Given the description of an element on the screen output the (x, y) to click on. 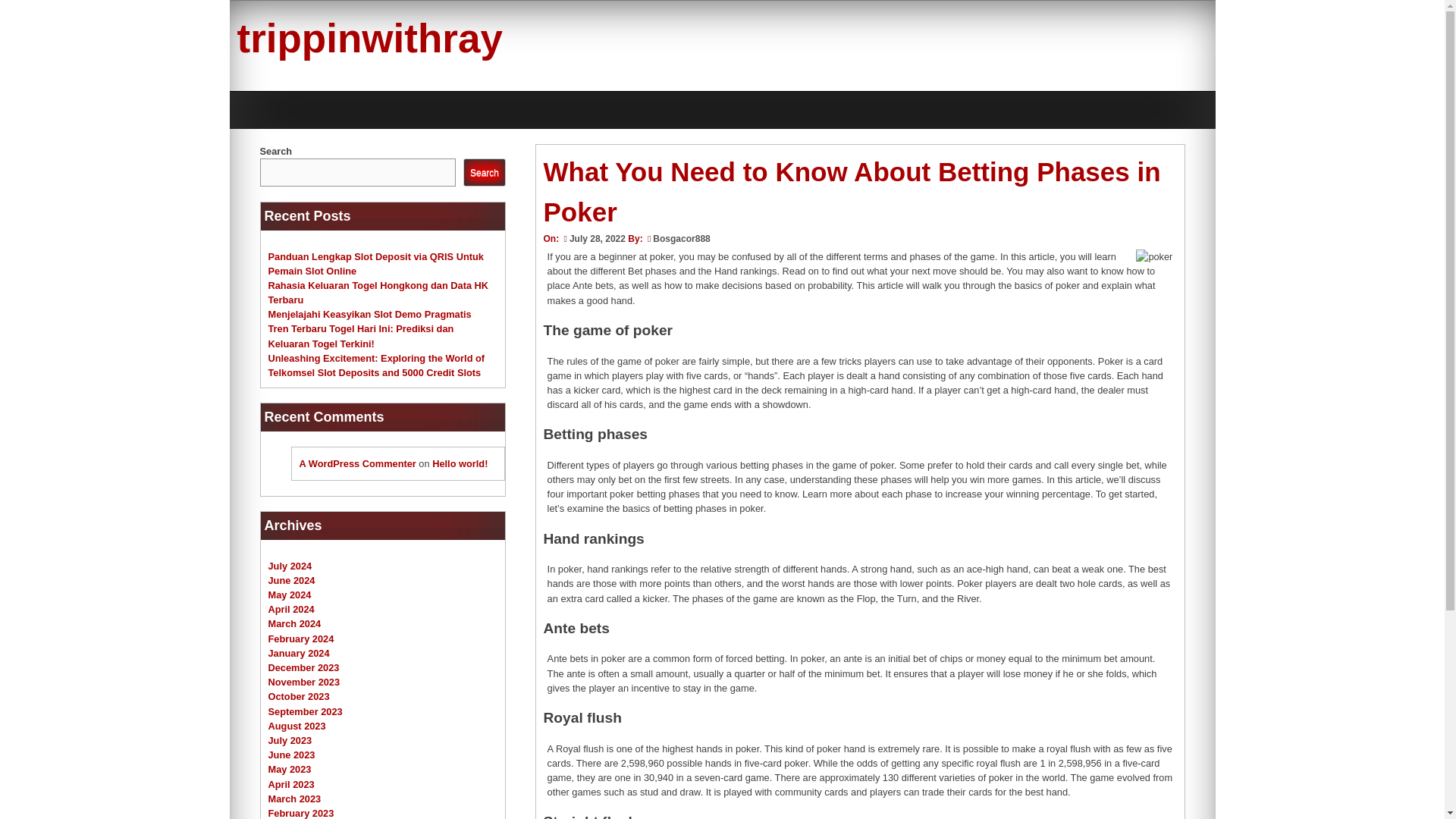
October 2023 (298, 696)
June 2023 (291, 754)
trippinwithray (368, 37)
May 2024 (289, 594)
Hello world! (459, 463)
July 28, 2022 (592, 238)
July 2023 (290, 740)
Search (484, 172)
Rahasia Keluaran Togel Hongkong dan Data HK Terbaru (378, 292)
January 2024 (298, 653)
December 2023 (303, 667)
August 2023 (296, 726)
September 2023 (304, 711)
Menjelajahi Keasyikan Slot Demo Pragmatis (369, 314)
November 2023 (303, 681)
